Given the description of an element on the screen output the (x, y) to click on. 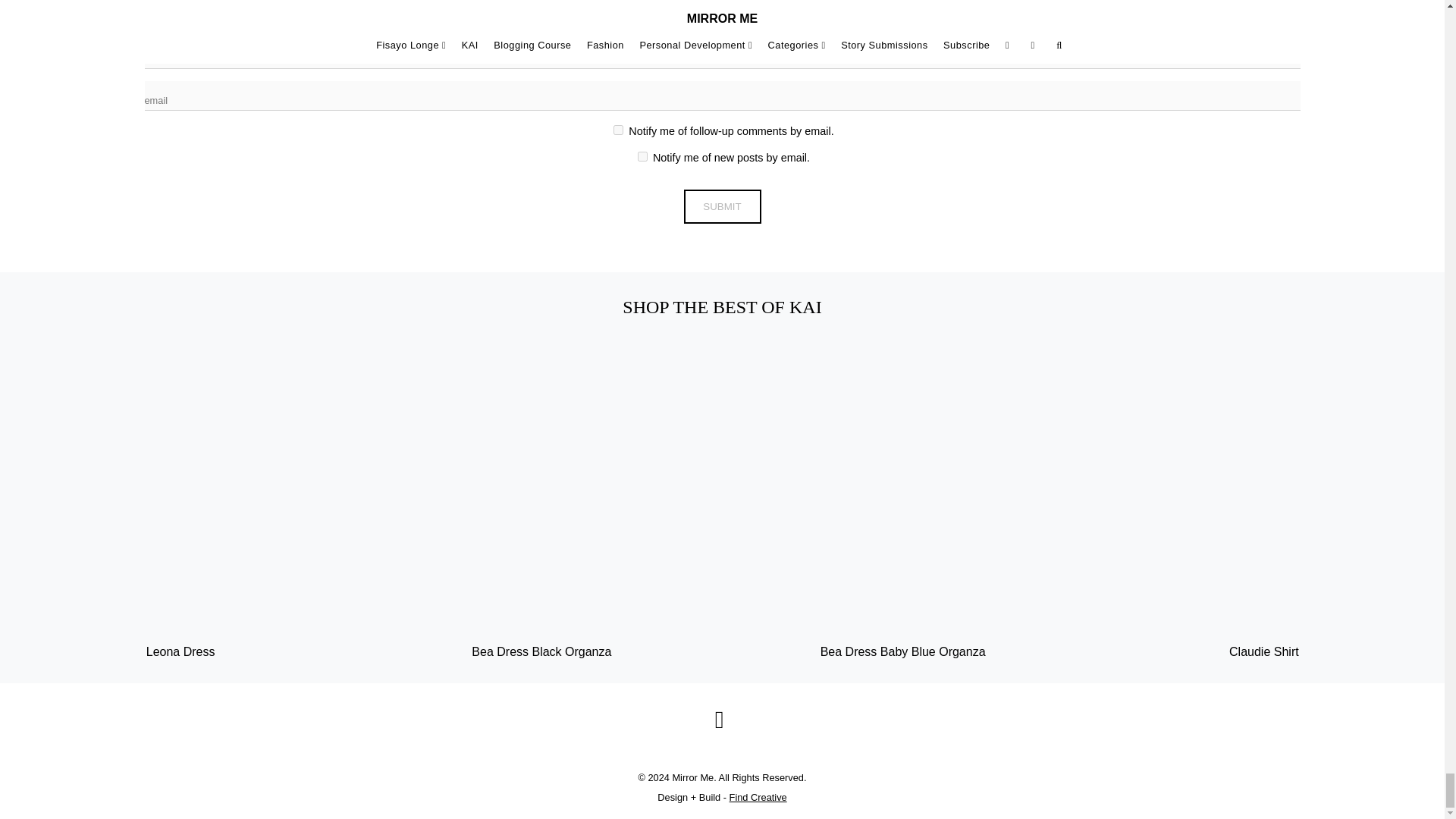
submit (722, 206)
subscribe (617, 130)
subscribe (642, 156)
